Given the description of an element on the screen output the (x, y) to click on. 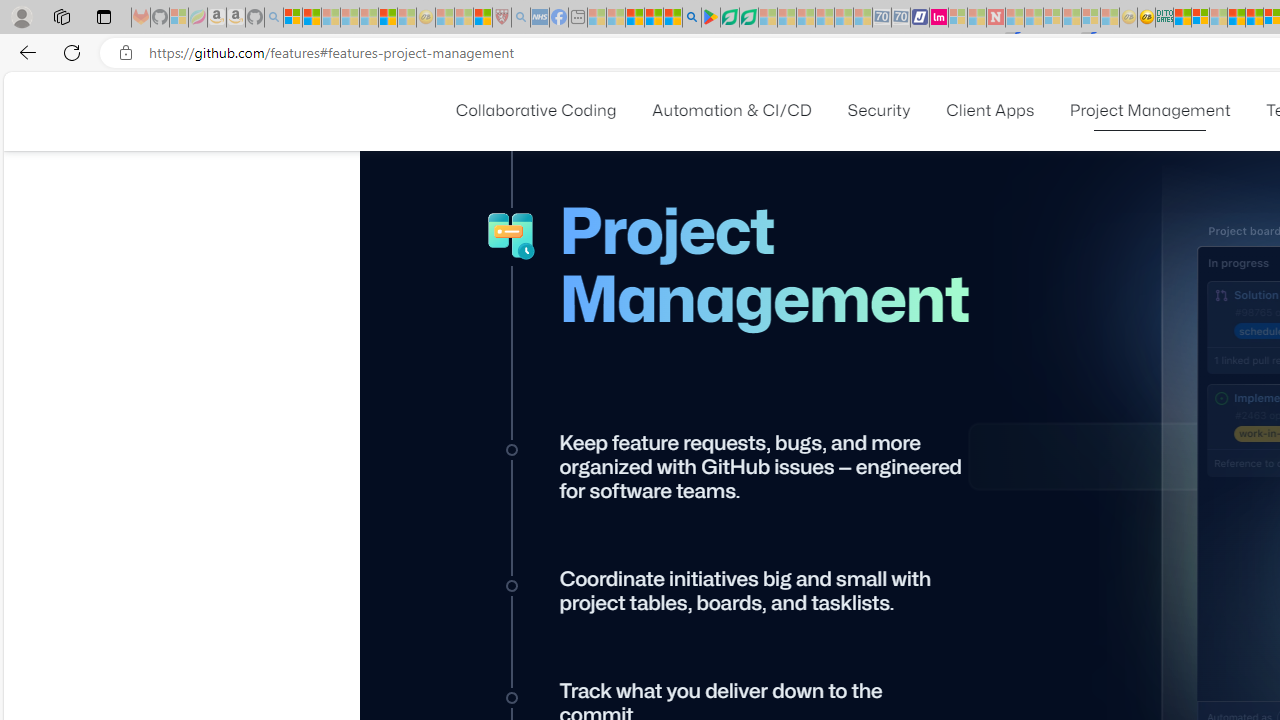
list of asthma inhalers uk - Search - Sleeping (520, 17)
Automation & CI/CD (731, 110)
MSNBC - MSN (1182, 17)
Back (24, 52)
Project Management (1149, 110)
Latest Politics News & Archive | Newsweek.com - Sleeping (995, 17)
Kinda Frugal - MSN (1254, 17)
Robert H. Shmerling, MD - Harvard Health - Sleeping (501, 17)
DITOGAMES AG Imprint (1163, 17)
